Given the description of an element on the screen output the (x, y) to click on. 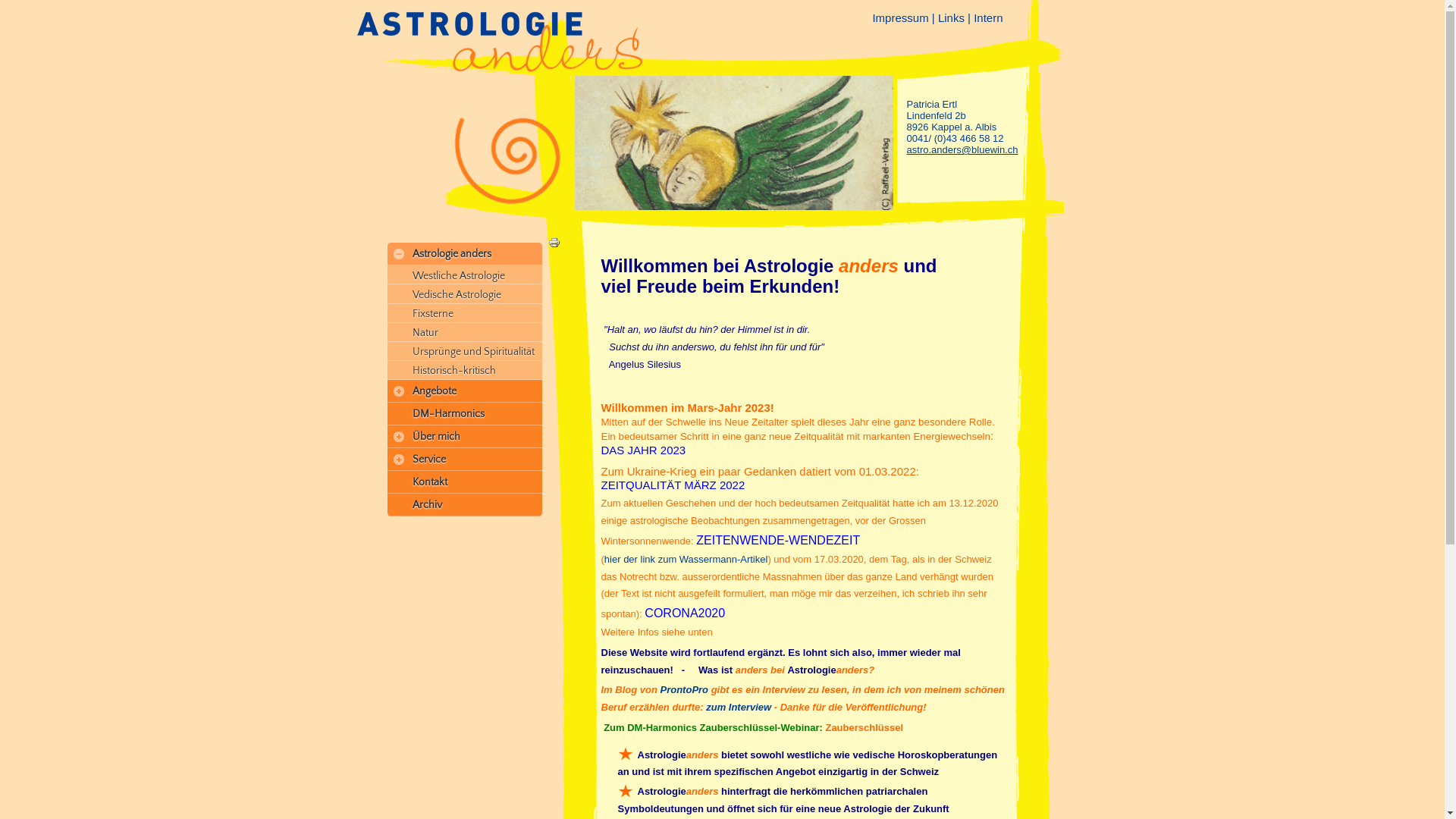
Vedische Astrologie Element type: text (475, 294)
DAS JAHR 2023 Element type: text (642, 449)
Astrologie anders Element type: text (469, 253)
Links Element type: text (951, 17)
Historisch-kritisch Element type: text (475, 370)
Kontakt Element type: text (469, 481)
CORONA2020 Element type: text (684, 612)
ProntoPro Element type: text (683, 689)
Natur Element type: text (475, 332)
Impressum Element type: text (900, 17)
zum Interview Element type: text (738, 706)
DM-Harmonics Element type: text (469, 413)
ZEITENWENDE-WENDEZEIT Element type: text (777, 539)
Print Element type: hover (553, 245)
Fixsterne Element type: text (475, 313)
Intern Element type: text (987, 17)
astro.anders@bluewin.ch Element type: text (962, 149)
Westliche Astrologie Element type: text (475, 275)
Archiv Element type: text (469, 504)
hier der link zum Wassermann-Artikel Element type: text (686, 558)
